Given the description of an element on the screen output the (x, y) to click on. 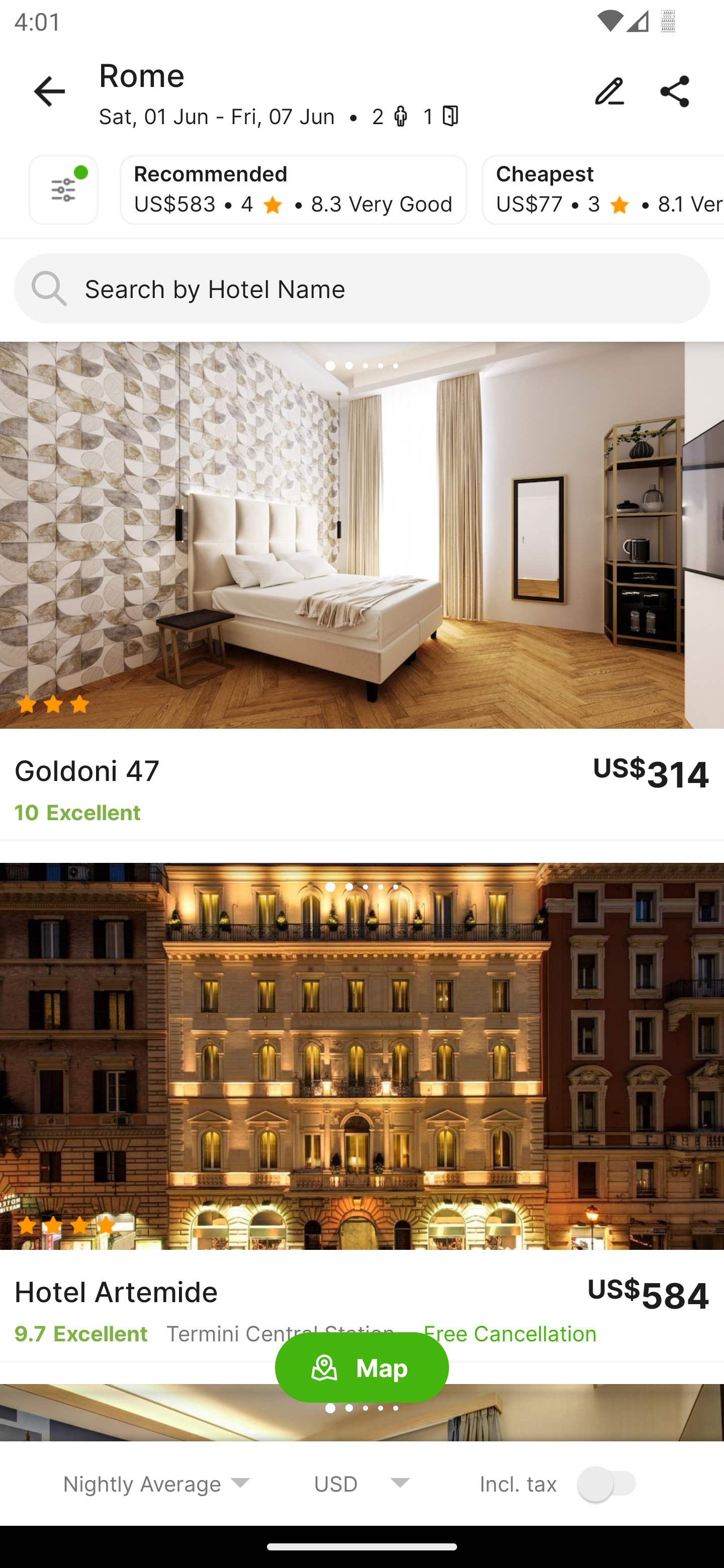
Rome Sat, 01 Jun - Fri, 07 Jun  •  2 -  1 - (361, 91)
Recommended  US$583  • 4 - • 8.3 Very Good (293, 190)
Cheapest US$77  • 3 - • 8.1 Very Good (602, 190)
Search by Hotel Name  (361, 288)
10.0 Goldoni 47 10 Excellent (362, 590)
Map  (361, 1367)
Nightly Average (156, 1482)
USD (361, 1482)
